Given the description of an element on the screen output the (x, y) to click on. 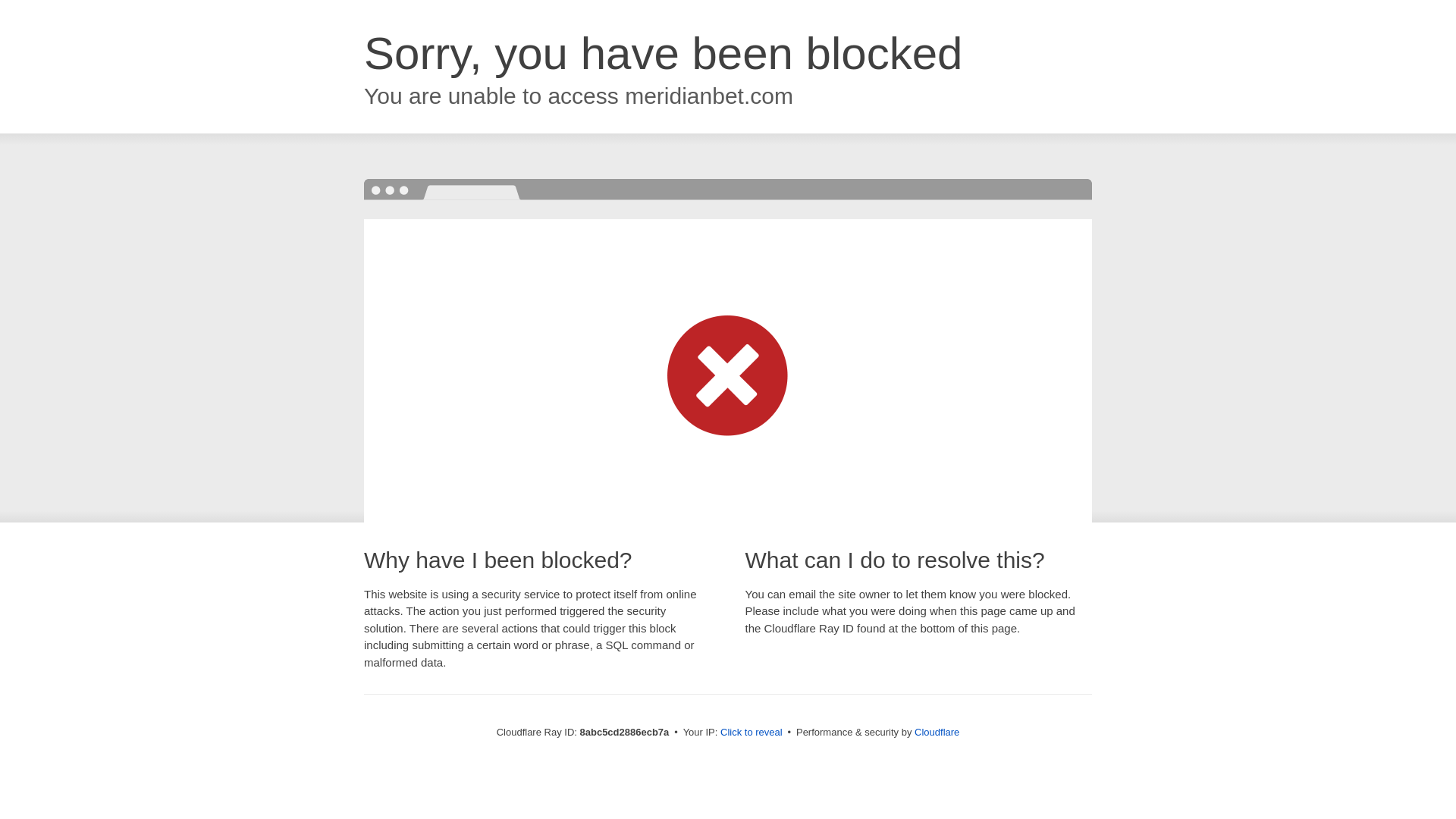
Cloudflare (936, 731)
Click to reveal (751, 732)
